Given the description of an element on the screen output the (x, y) to click on. 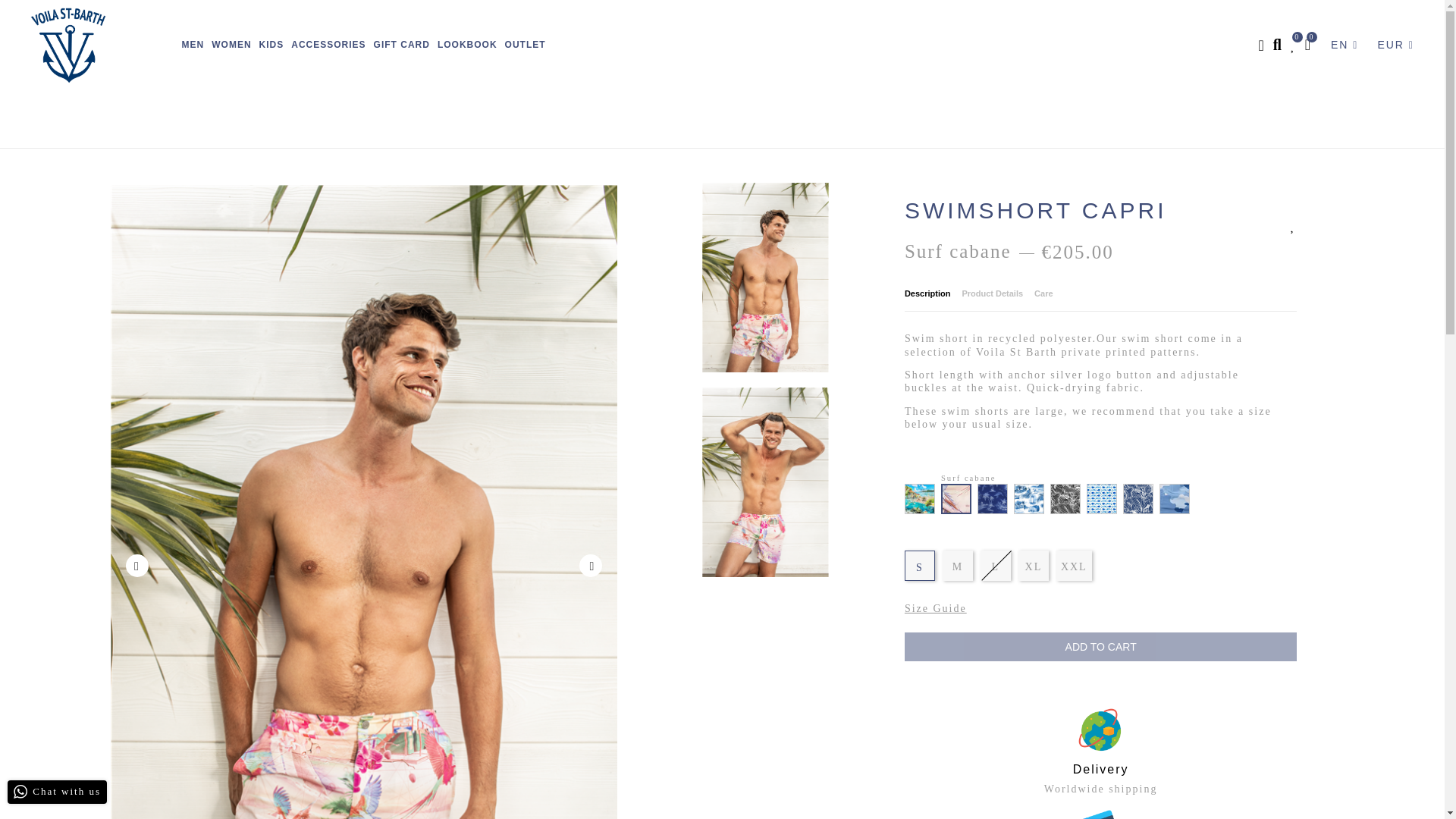
KIDS (272, 45)
MEN (192, 45)
Login (1262, 46)
WOMEN (231, 45)
